Given the description of an element on the screen output the (x, y) to click on. 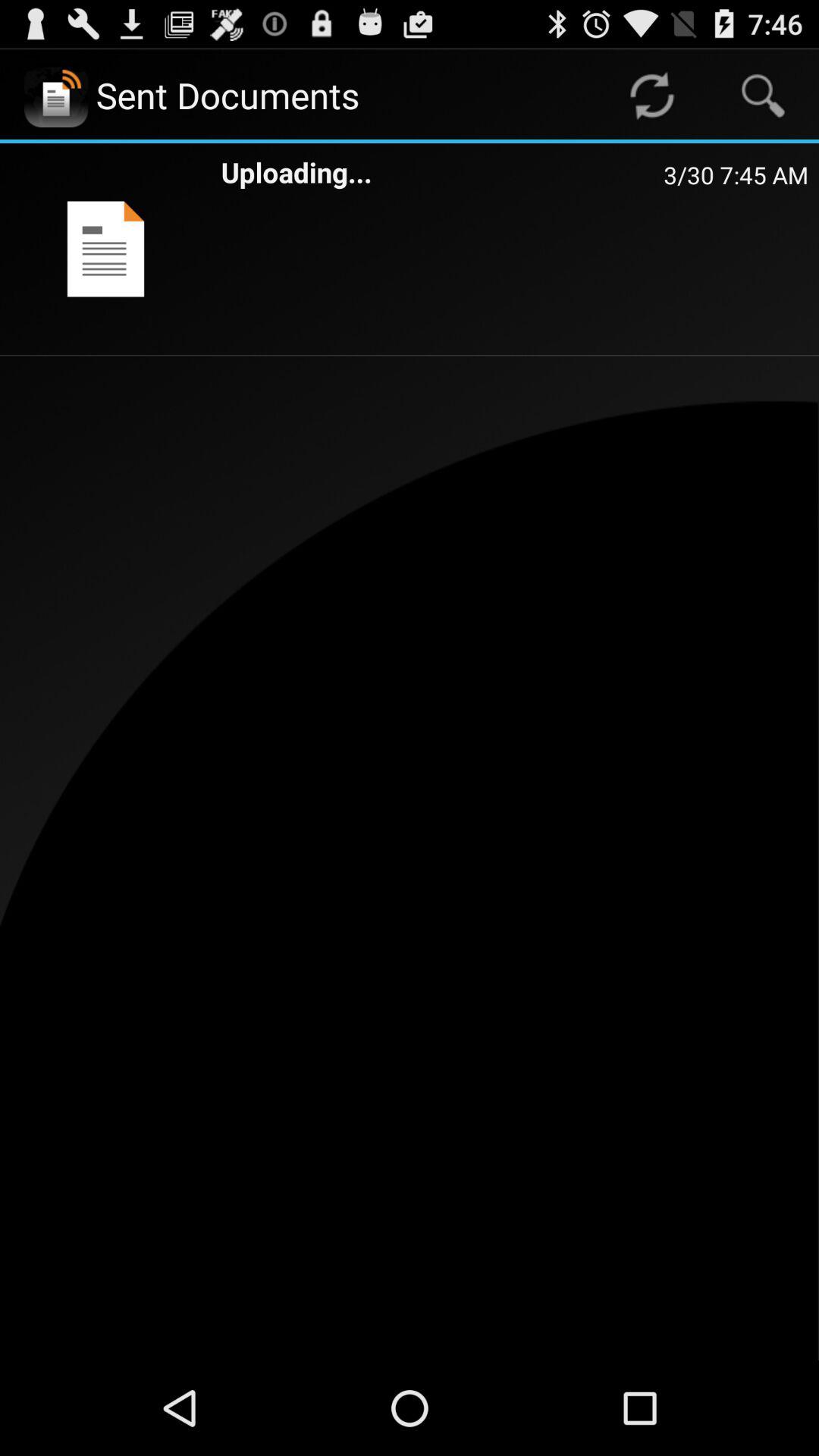
select the app next to the 3 30 7 item (442, 172)
